Given the description of an element on the screen output the (x, y) to click on. 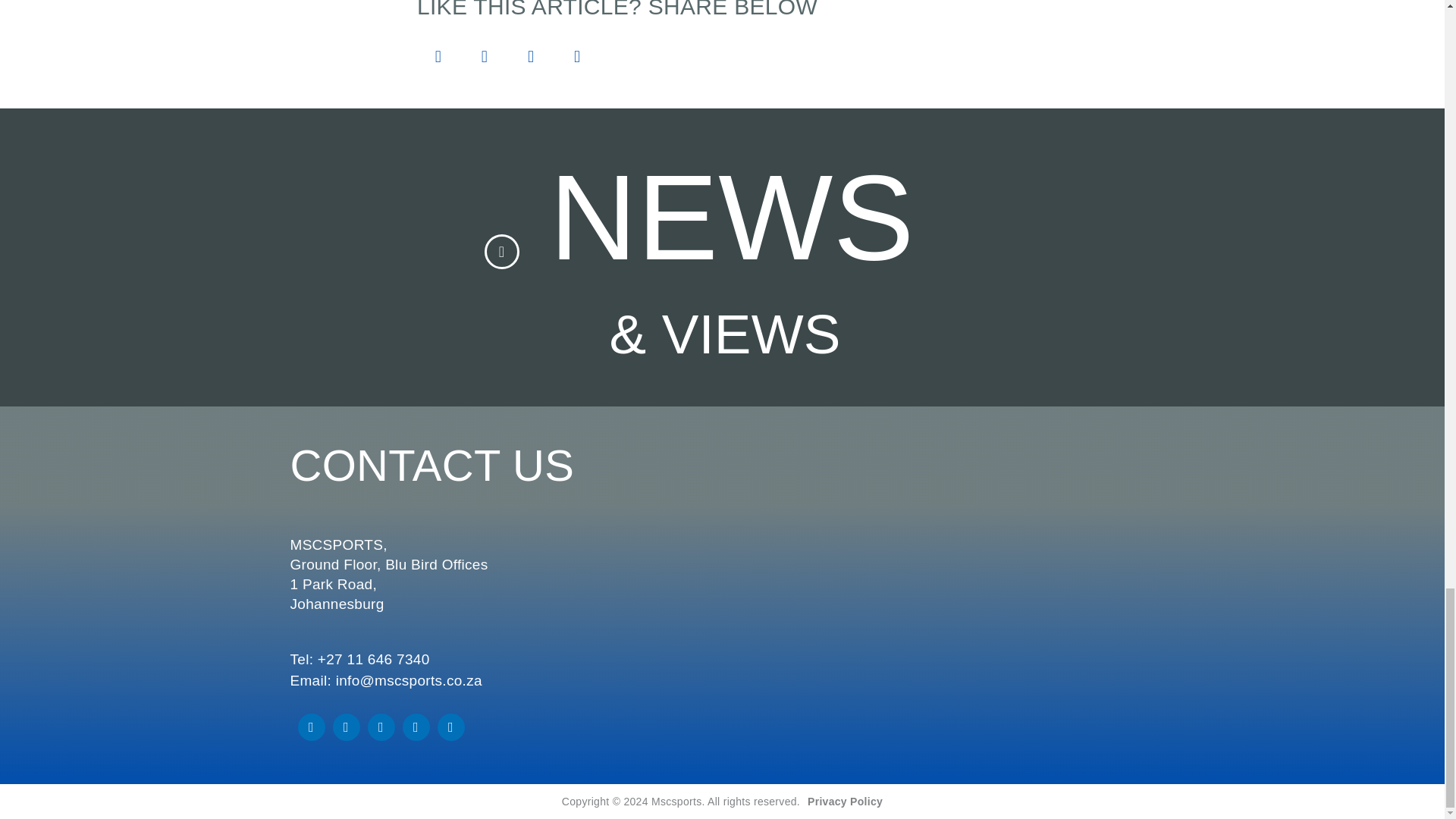
Privacy Policy (845, 801)
NEWS (731, 217)
